Given the description of an element on the screen output the (x, y) to click on. 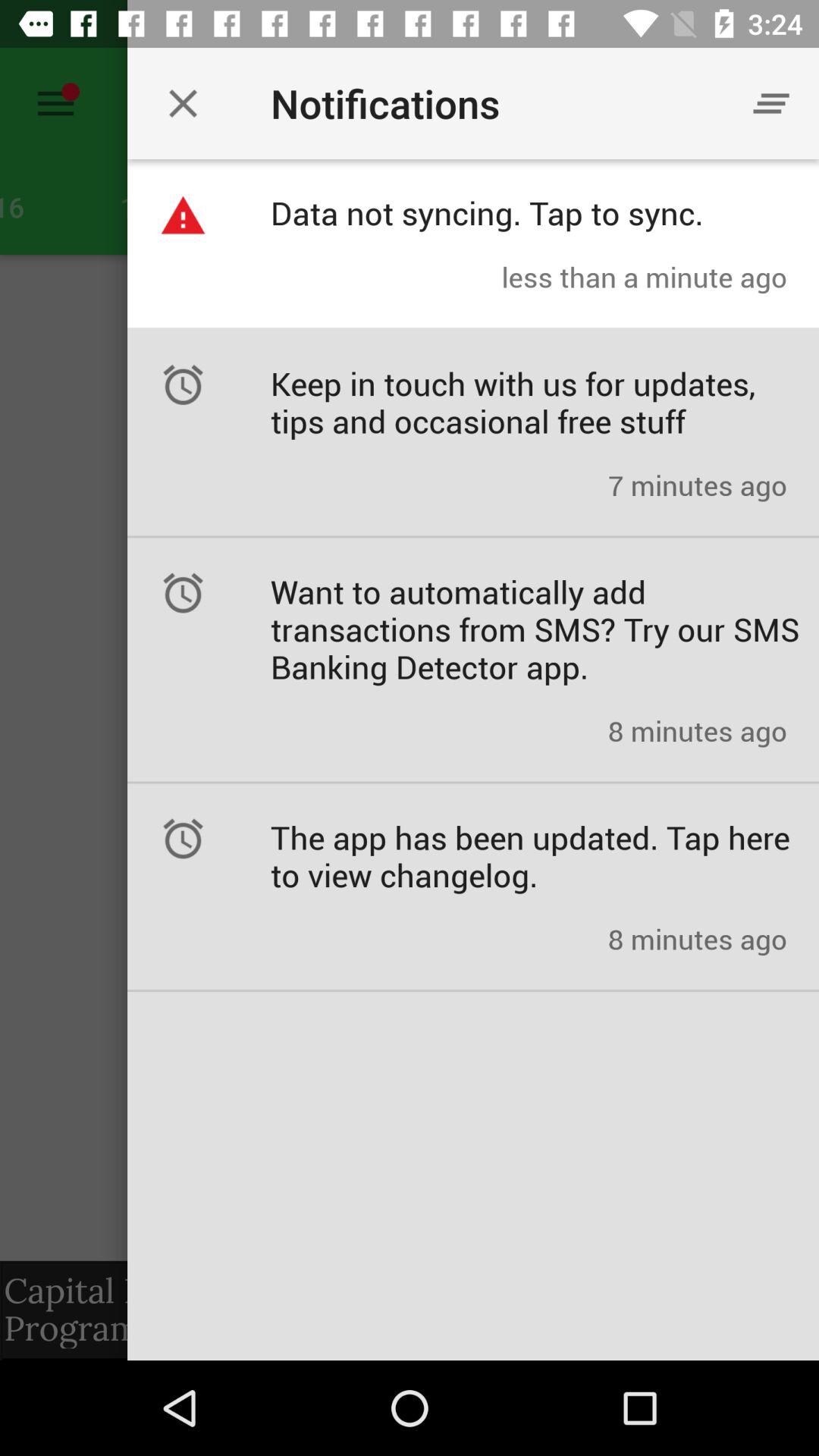
click on the more options icon (771, 103)
